Given the description of an element on the screen output the (x, y) to click on. 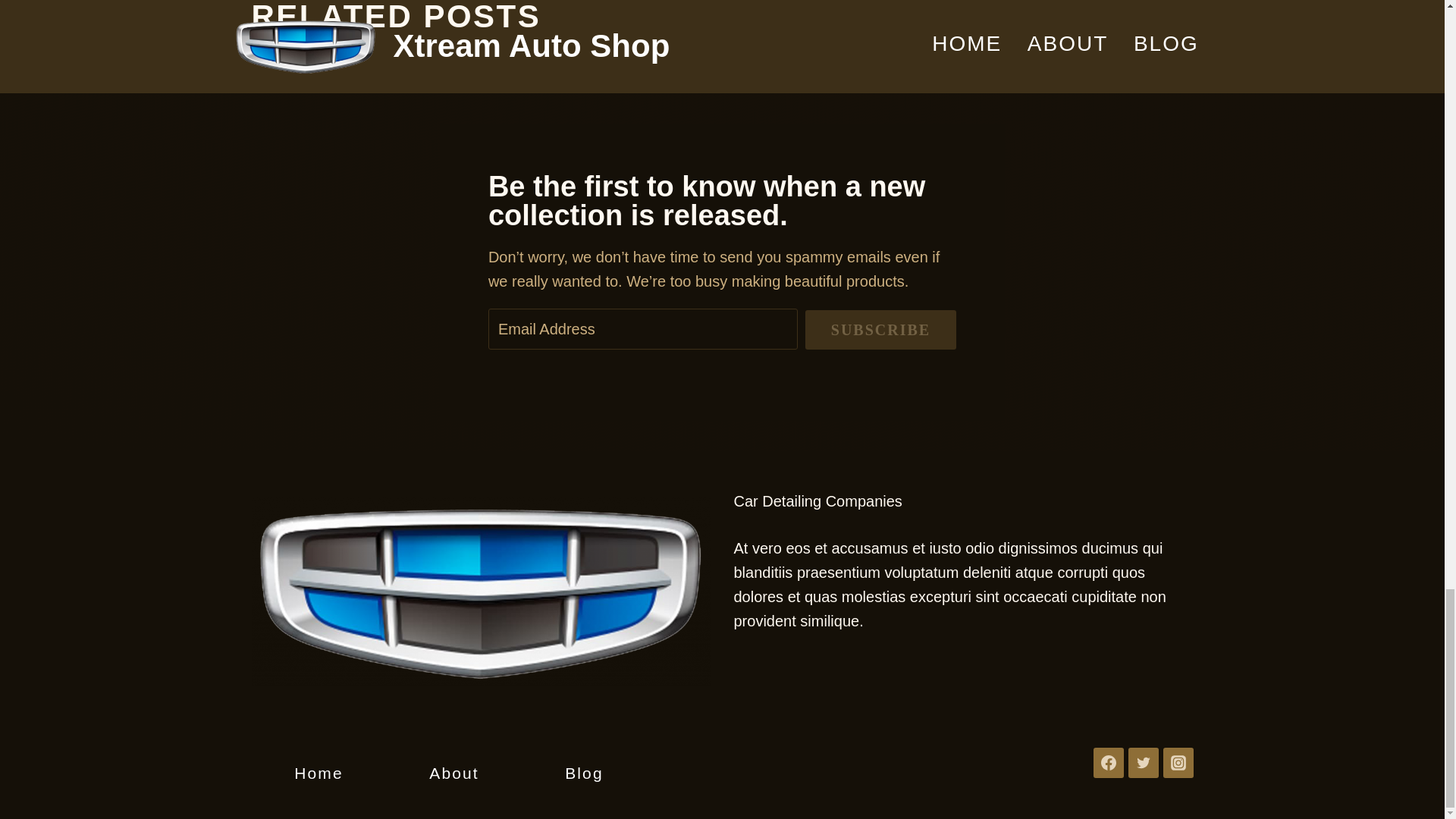
Home (318, 773)
About (454, 773)
SUBSCRIBE (880, 329)
